Given the description of an element on the screen output the (x, y) to click on. 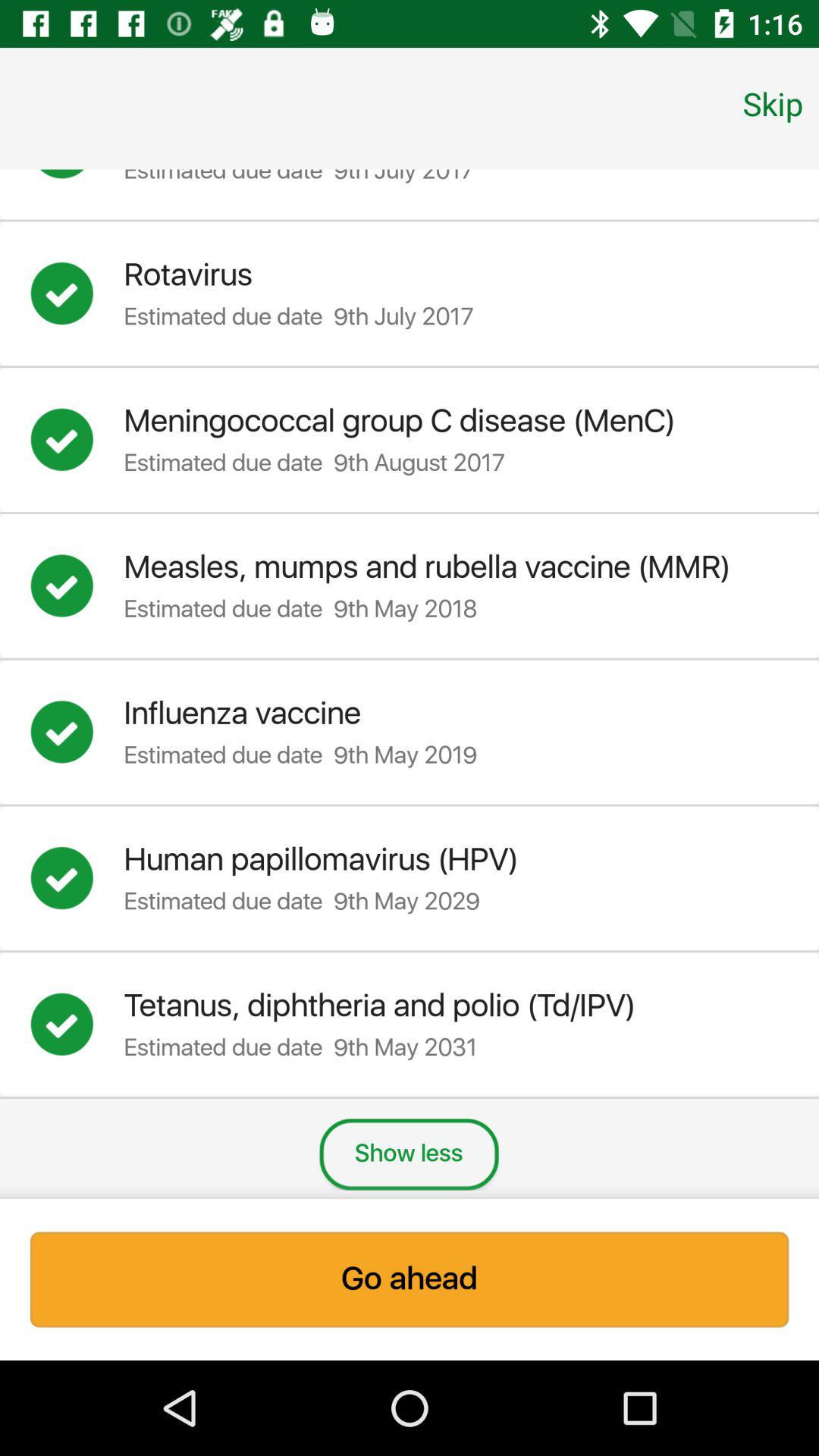
select information (76, 585)
